Given the description of an element on the screen output the (x, y) to click on. 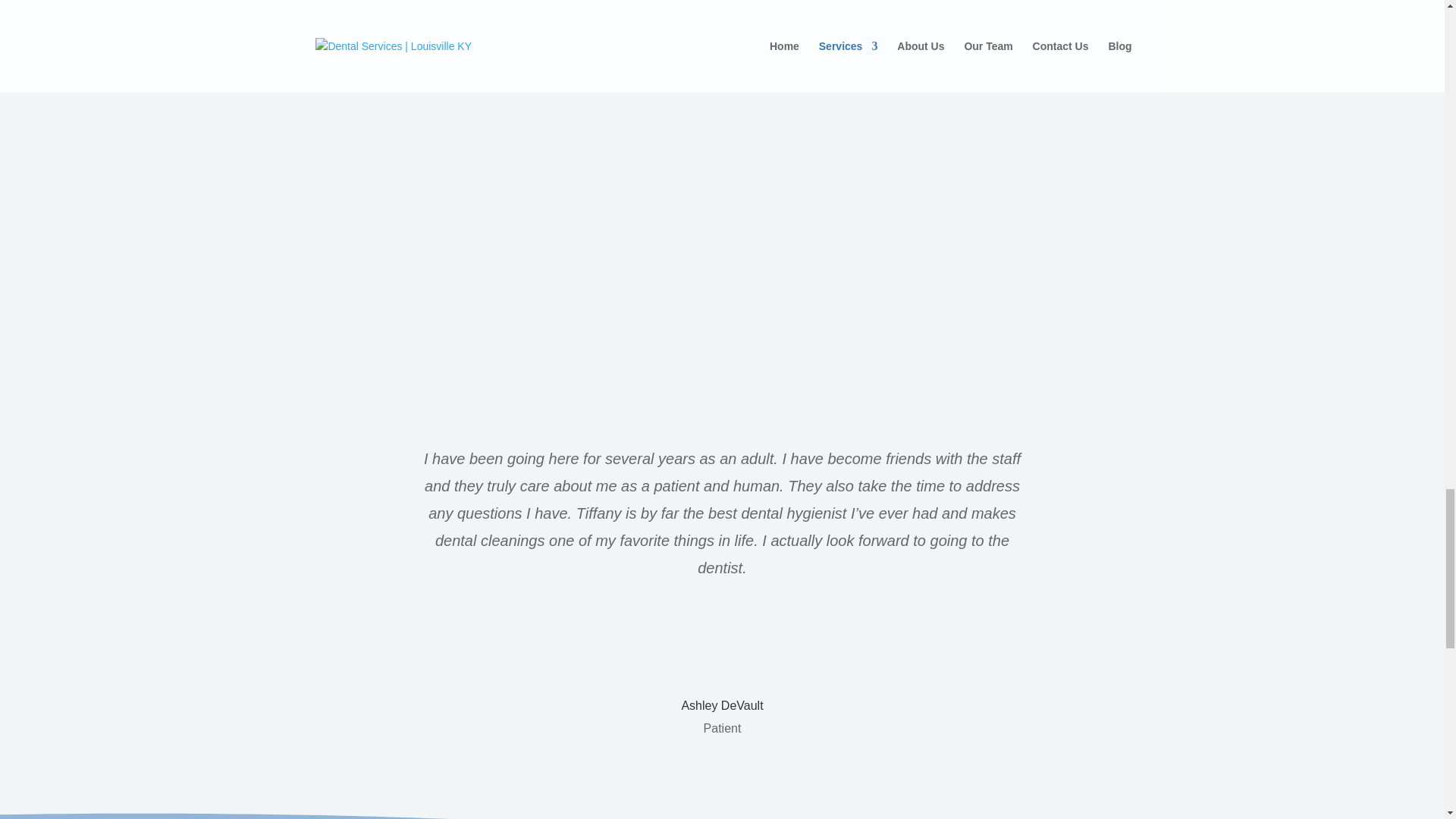
Submit (163, 208)
